Given the description of an element on the screen output the (x, y) to click on. 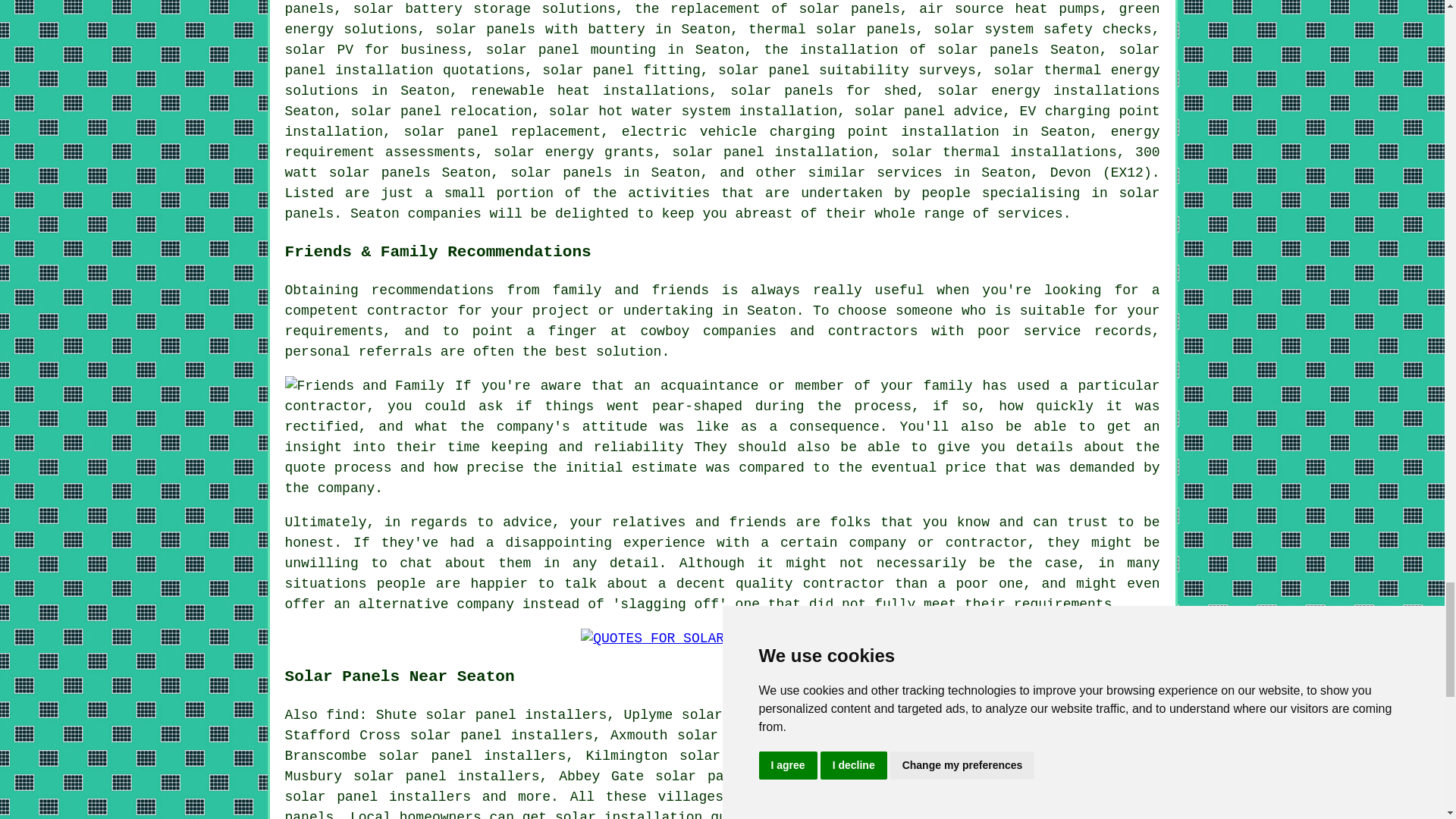
solar panels with battery (540, 29)
thermal solar panels (831, 29)
